Given the description of an element on the screen output the (x, y) to click on. 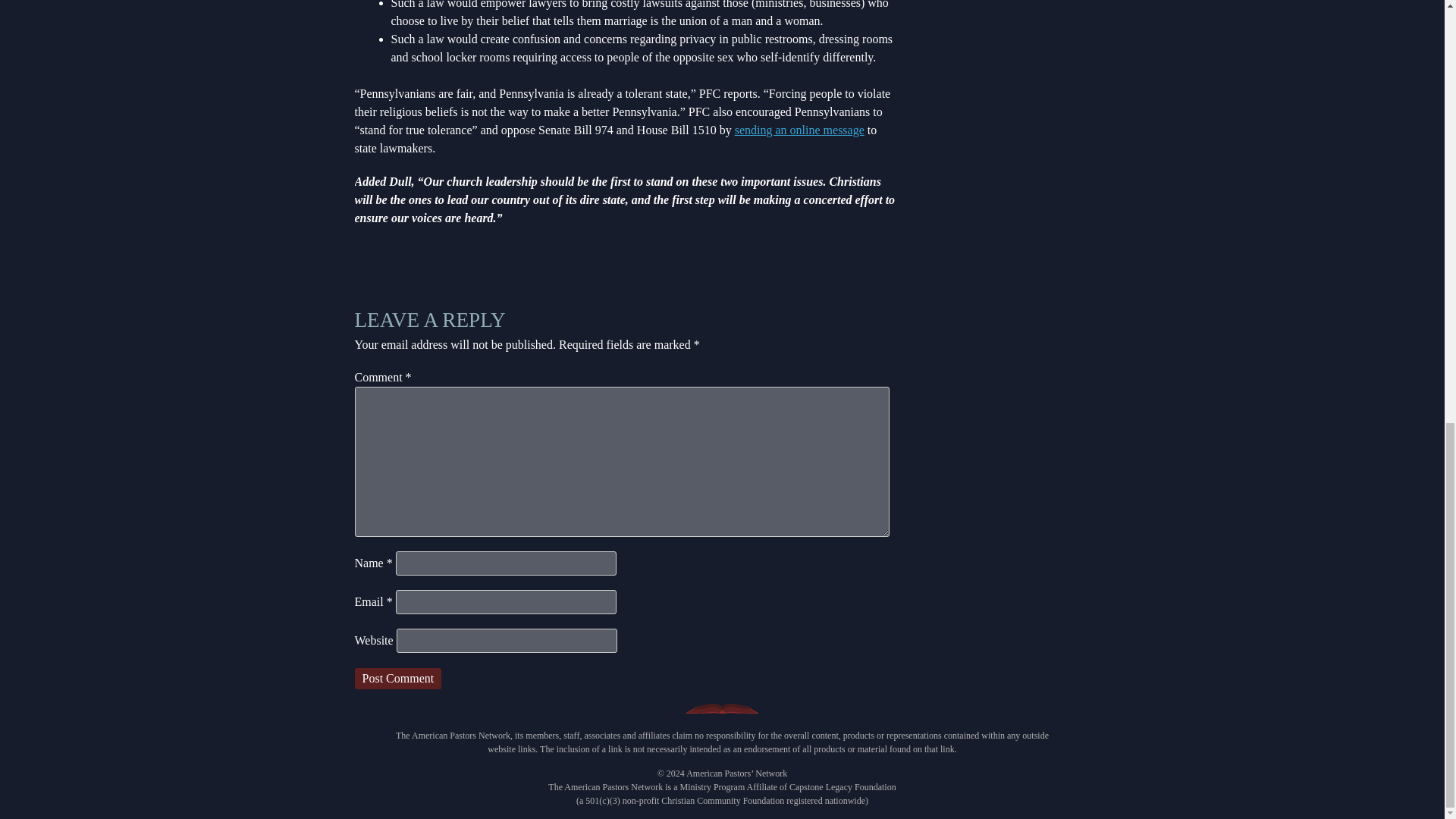
Post Comment (398, 678)
Post Comment (398, 678)
sending an online message (799, 129)
